Given the description of an element on the screen output the (x, y) to click on. 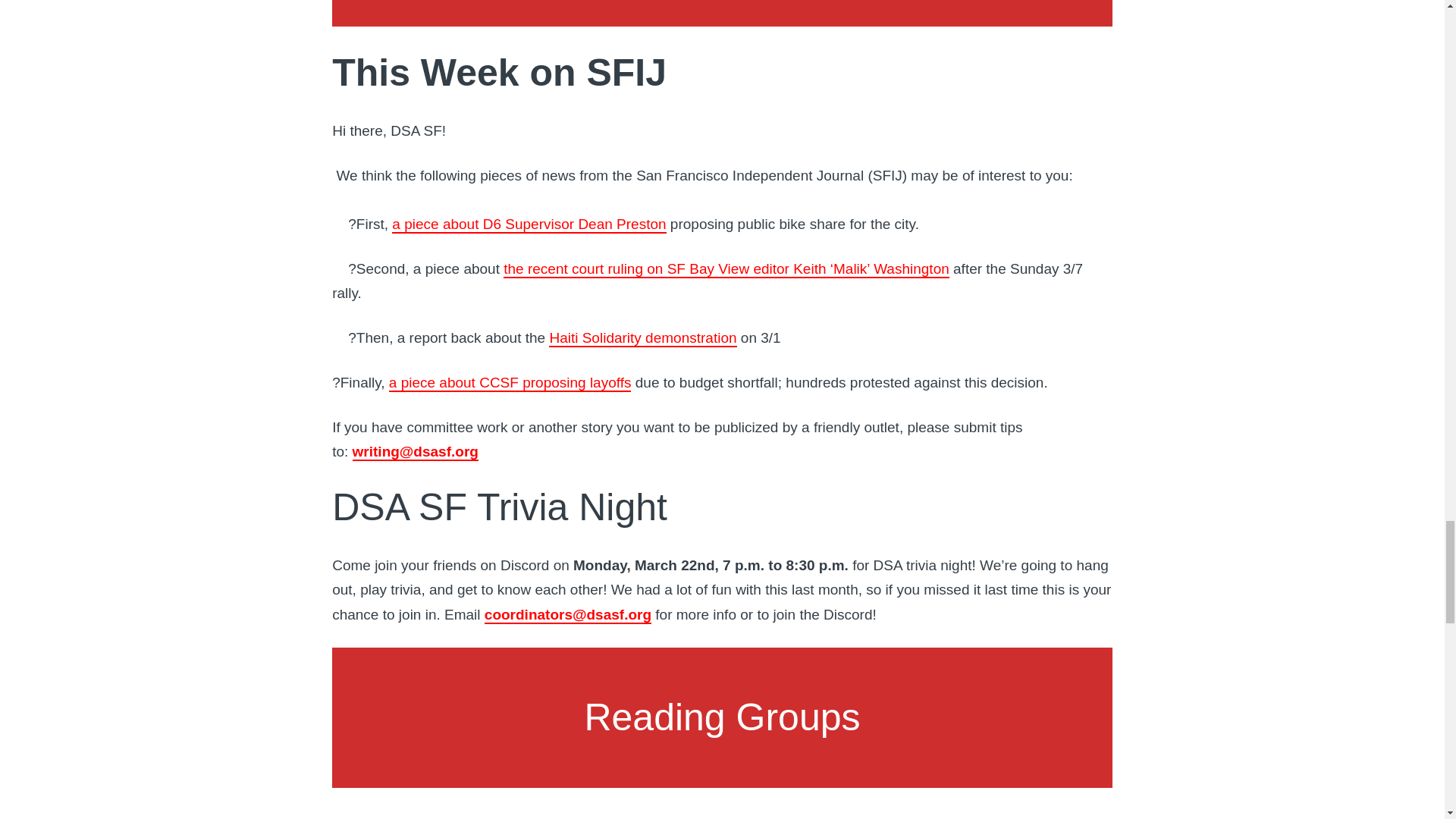
a piece about D6 Supervisor Dean Preston (528, 224)
Haiti Solidarity demonstration (642, 338)
a piece about CCSF proposing layoffs (509, 383)
